Given the description of an element on the screen output the (x, y) to click on. 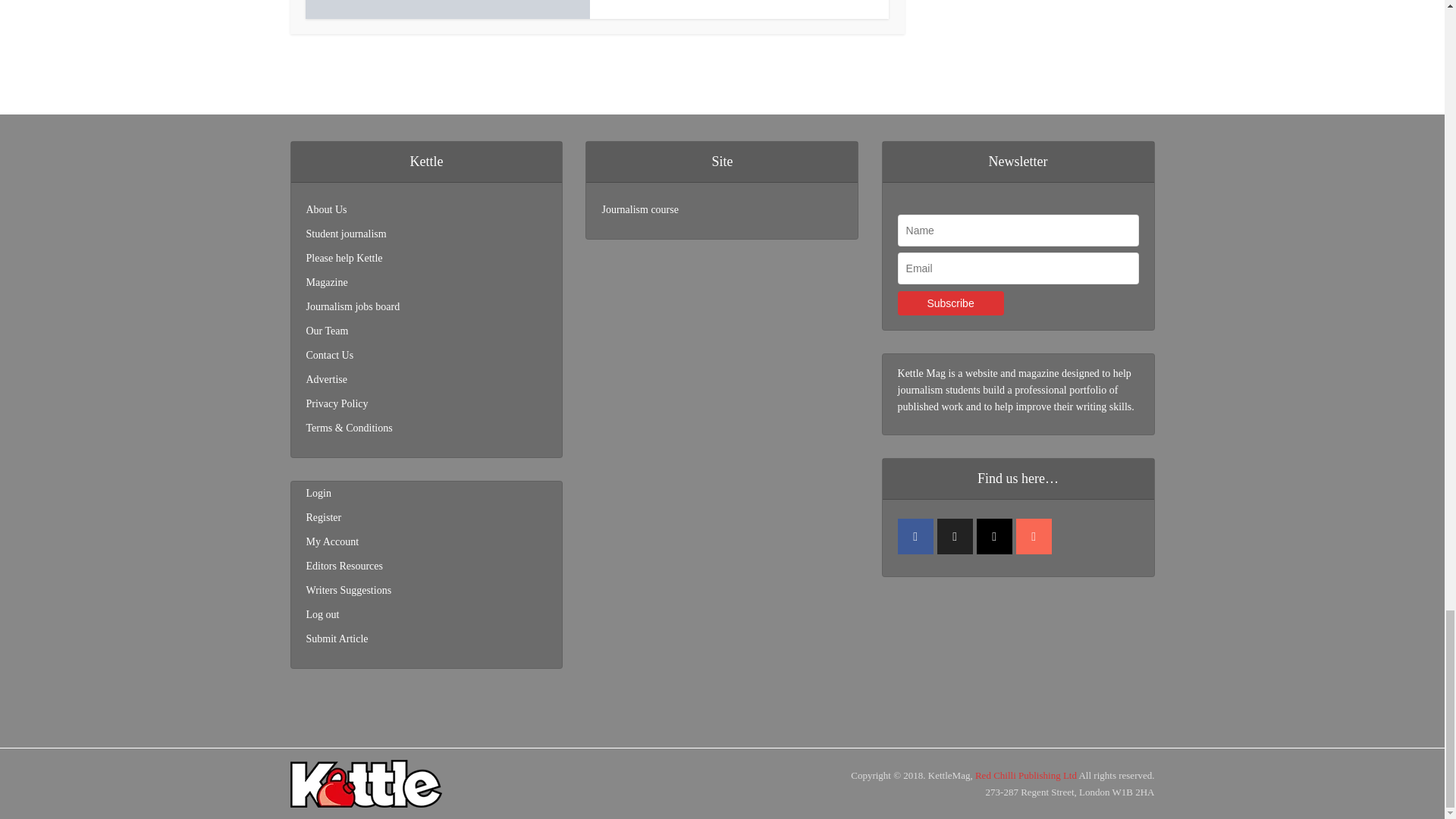
Subscribe (951, 303)
